Given the description of an element on the screen output the (x, y) to click on. 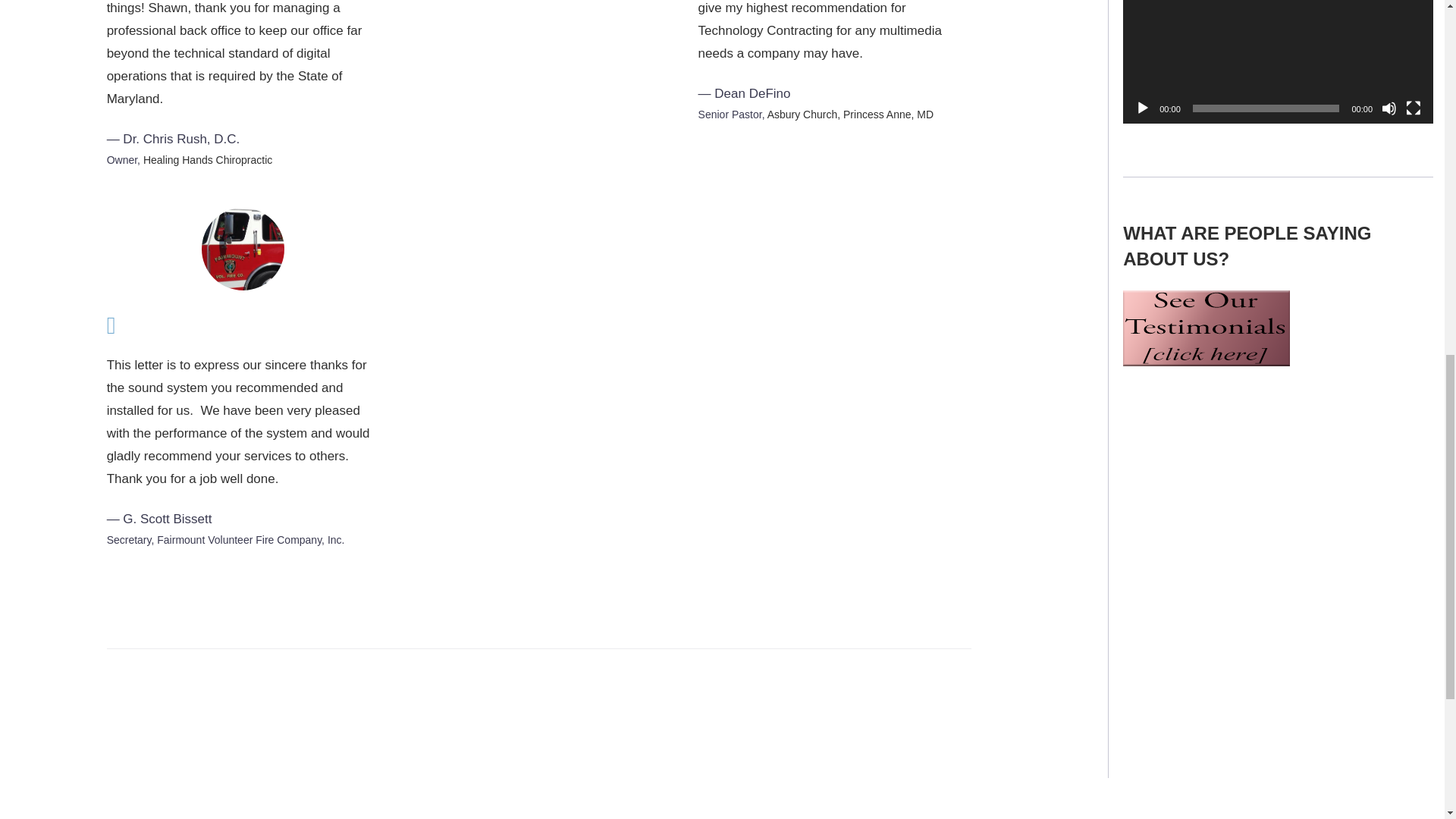
Mute (1388, 108)
Play (1142, 108)
Asbury Church, Princess Anne, MD (850, 114)
Healing Hands Chiropractic (207, 159)
Fullscreen (1413, 108)
